Given the description of an element on the screen output the (x, y) to click on. 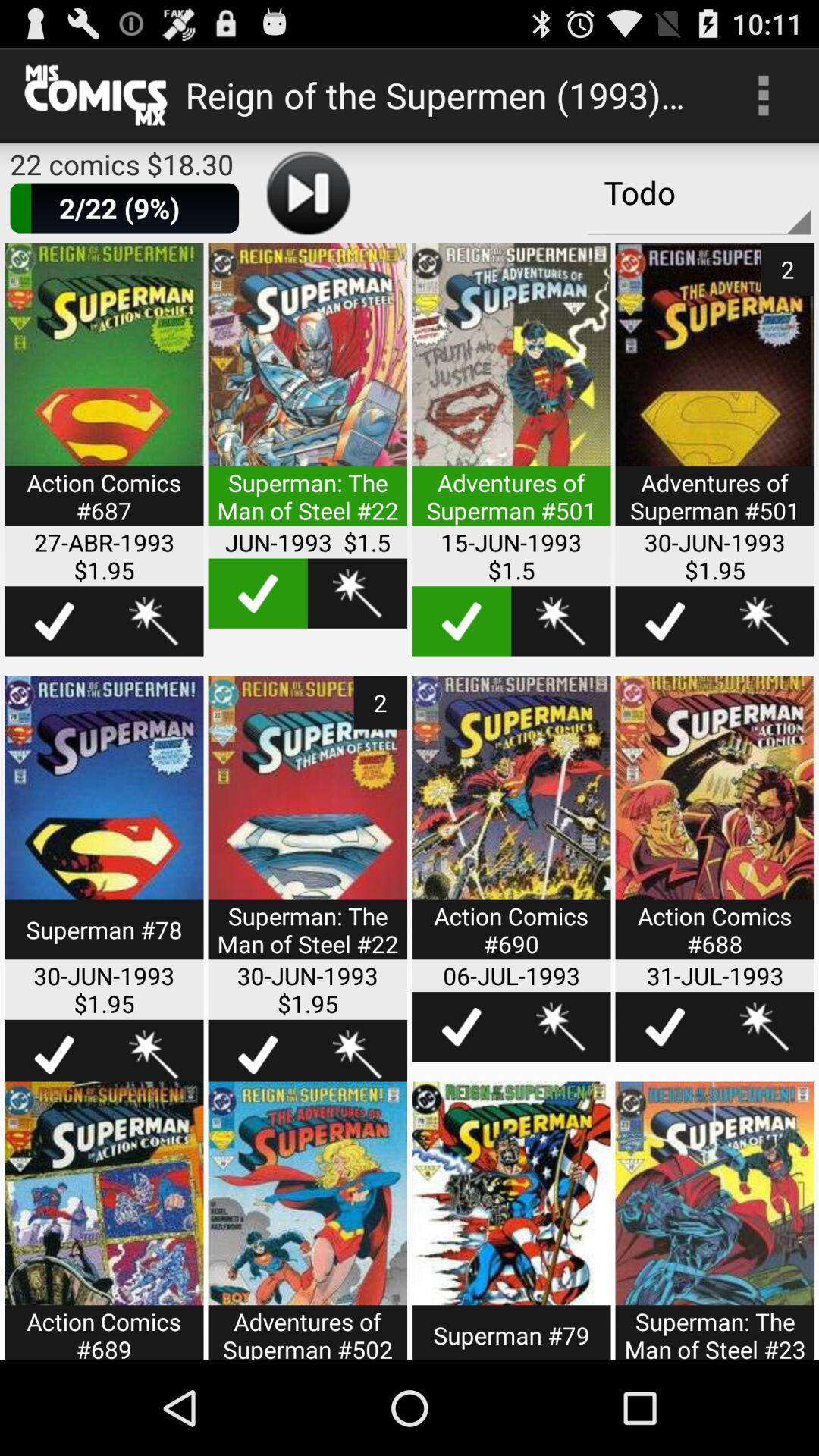
share the article (714, 1220)
